Given the description of an element on the screen output the (x, y) to click on. 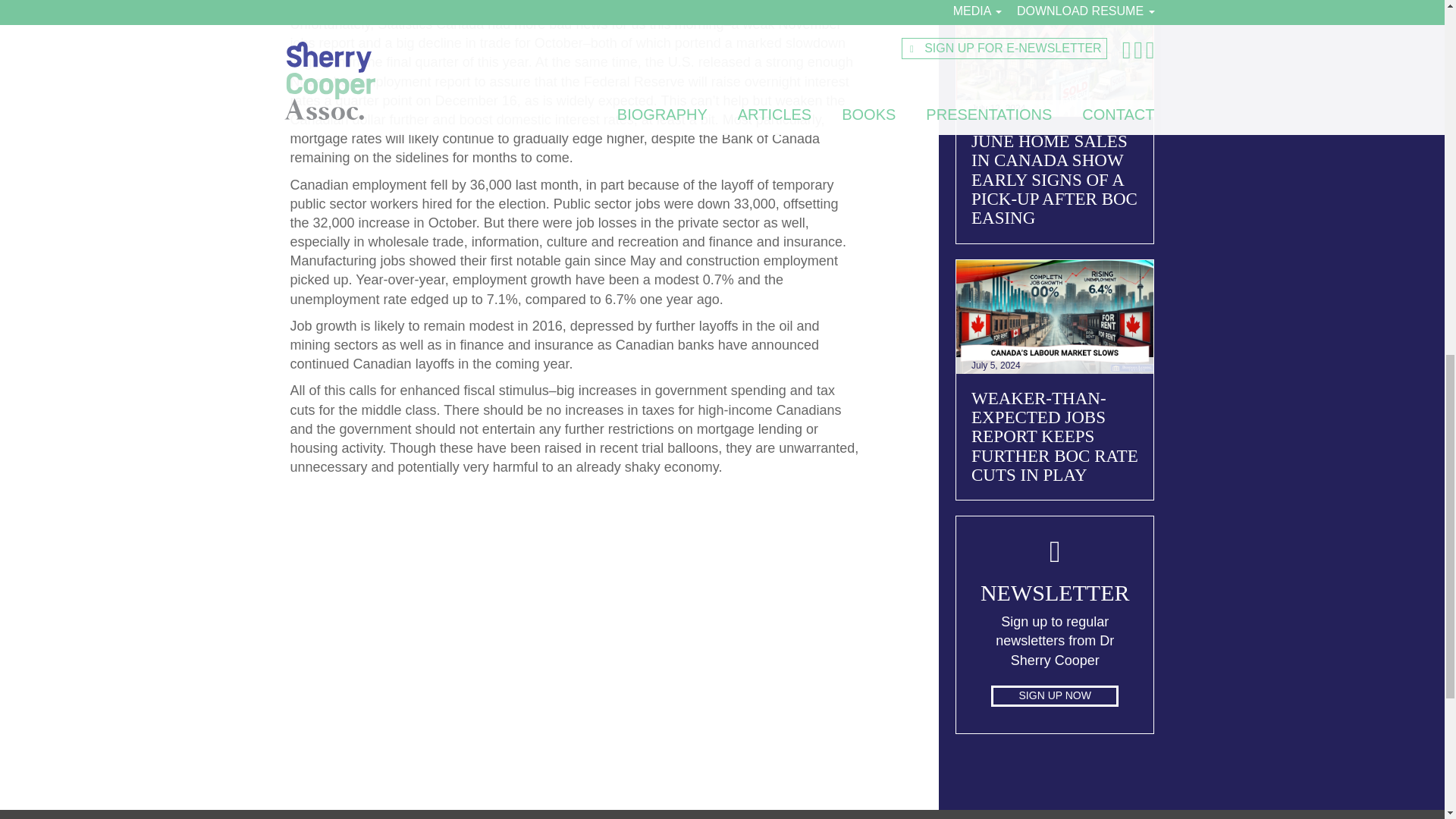
July 5, 2024 (1055, 316)
SIGN UP NOW (1054, 695)
July 12, 2024 (1055, 60)
